Given the description of an element on the screen output the (x, y) to click on. 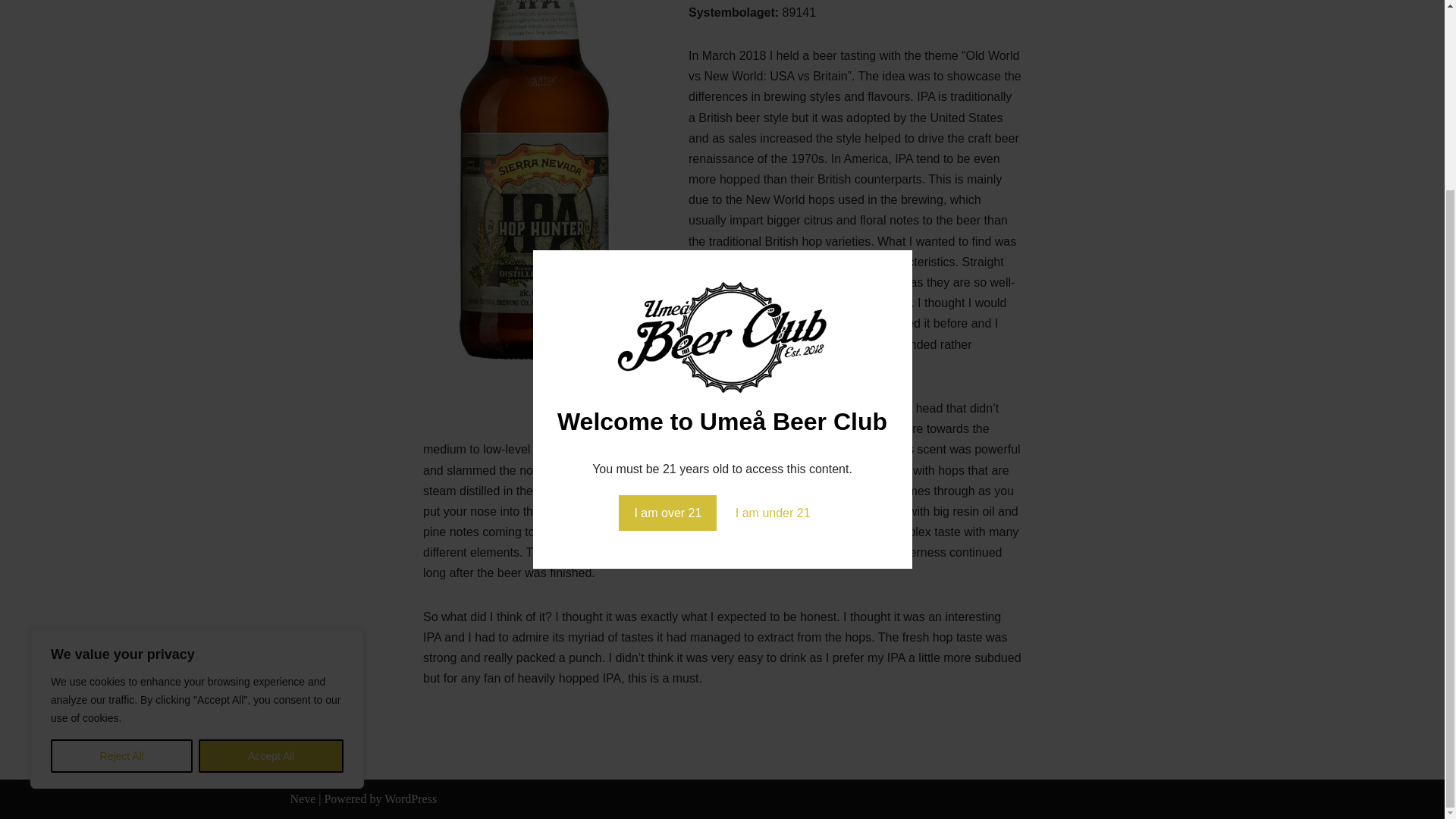
I am under 21 (772, 275)
Accept All (270, 518)
Reject All (121, 518)
I am over 21 (667, 275)
